Given the description of an element on the screen output the (x, y) to click on. 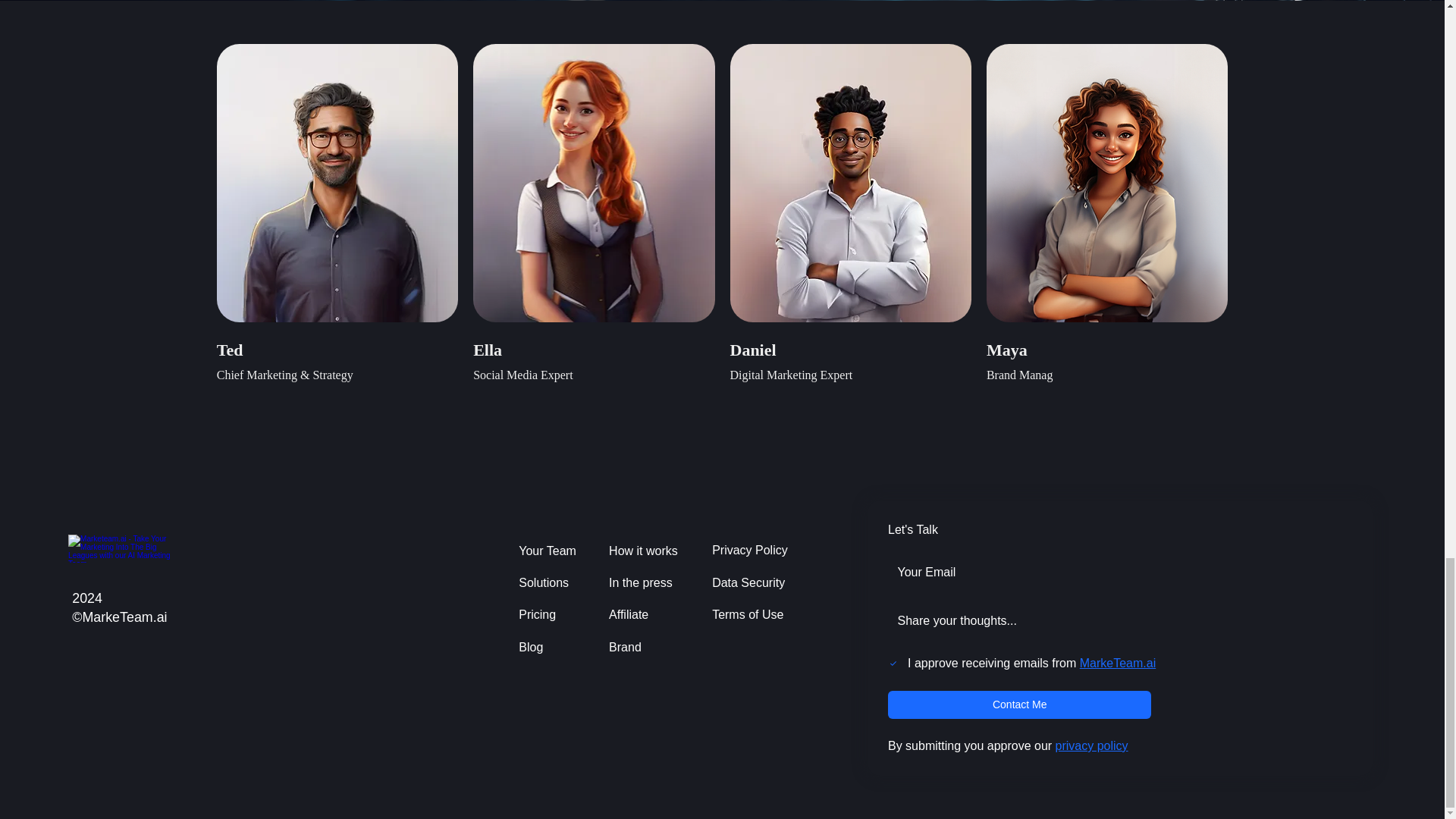
Affiliate (644, 614)
MarkeTeam.ai (1118, 662)
privacy policy (1091, 745)
Brand (644, 647)
Terms of Use (753, 614)
Privacy Policy (753, 550)
Pricing (548, 614)
Contact Me (1019, 705)
How it works (644, 551)
Blog (548, 647)
Solutions (548, 582)
Data Security (753, 582)
Your Team (548, 551)
In the press (644, 582)
